Given the description of an element on the screen output the (x, y) to click on. 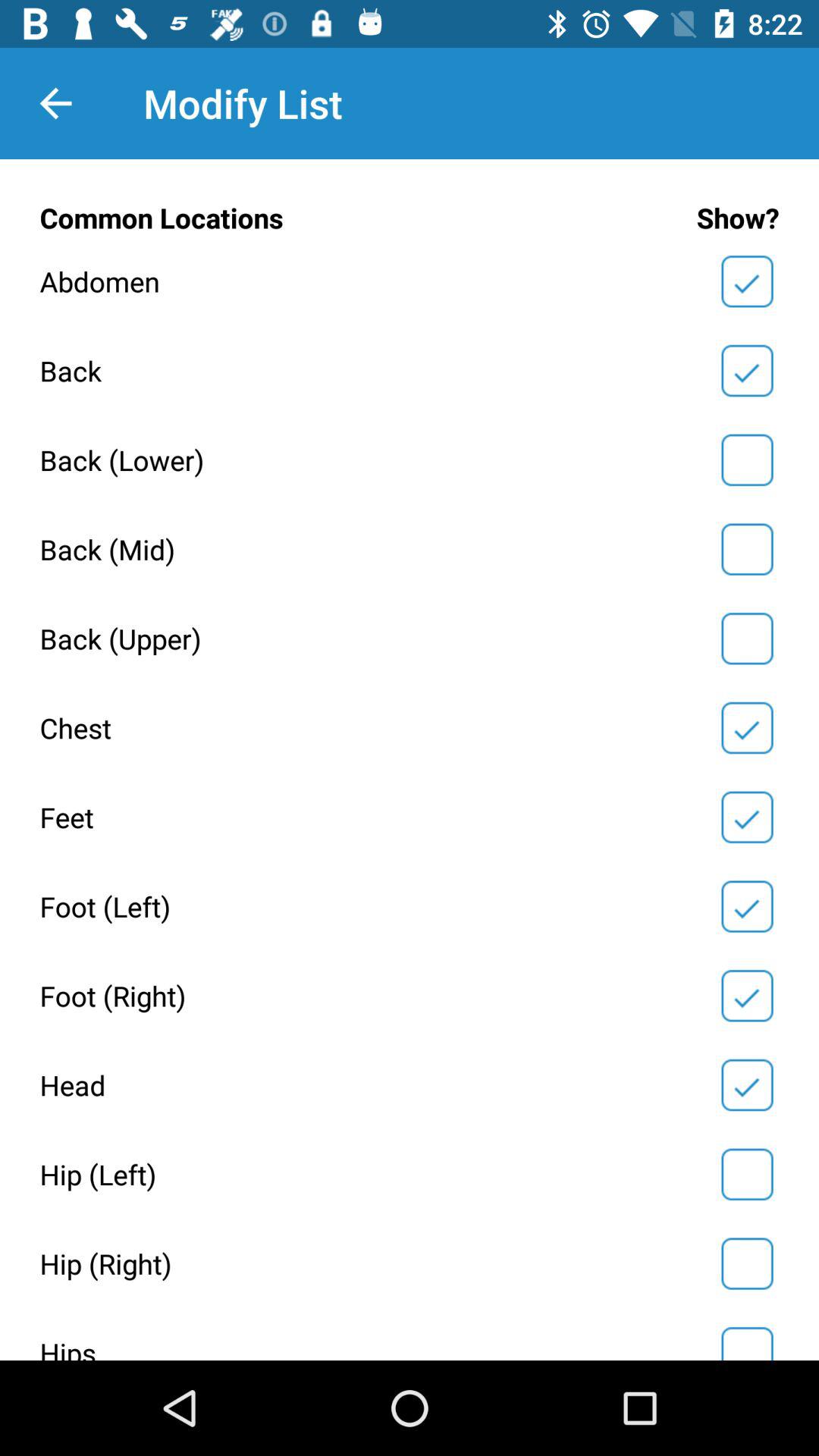
select/deselect back mid (747, 549)
